Given the description of an element on the screen output the (x, y) to click on. 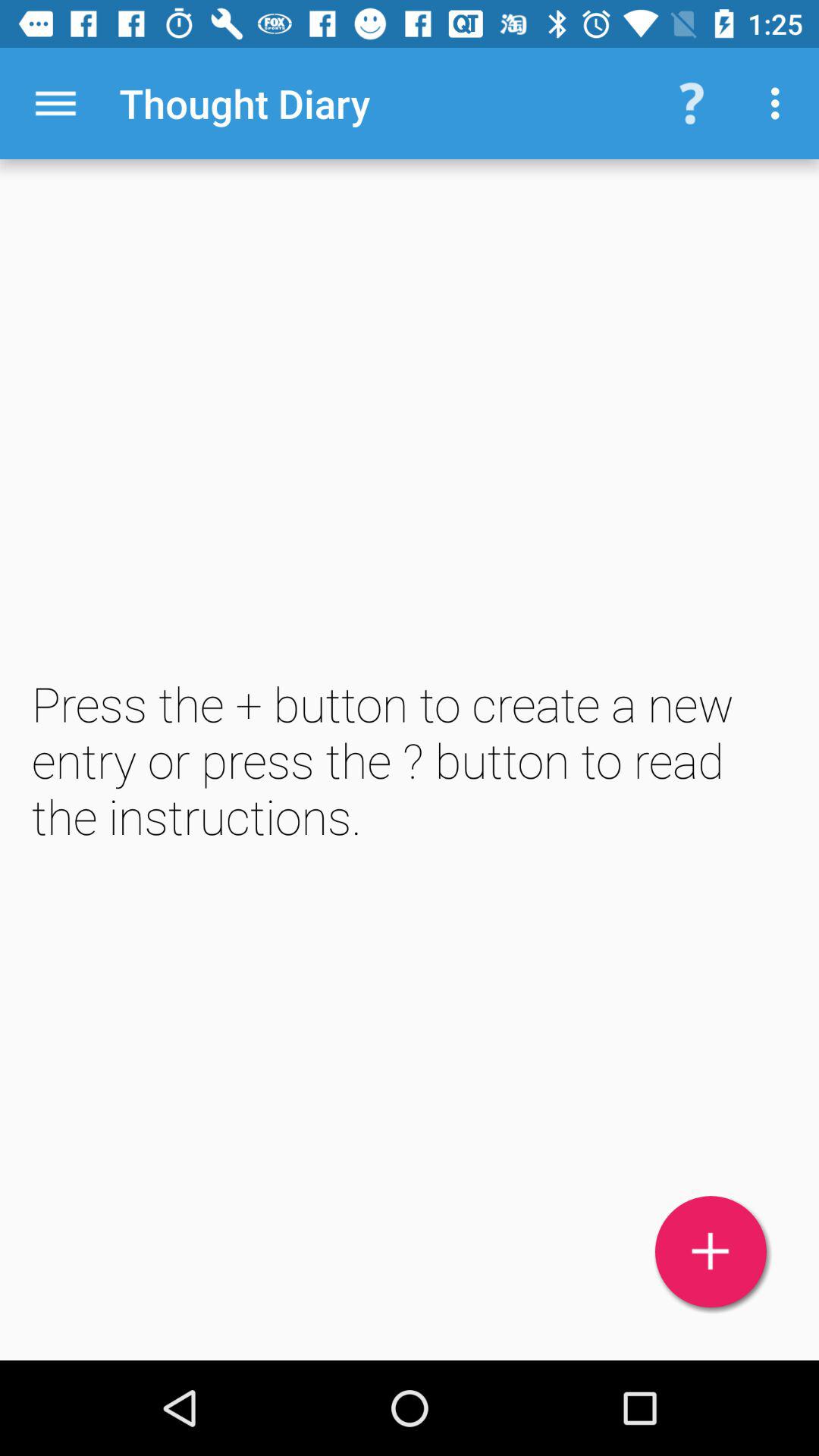
click the item next to the thought diary item (55, 103)
